Given the description of an element on the screen output the (x, y) to click on. 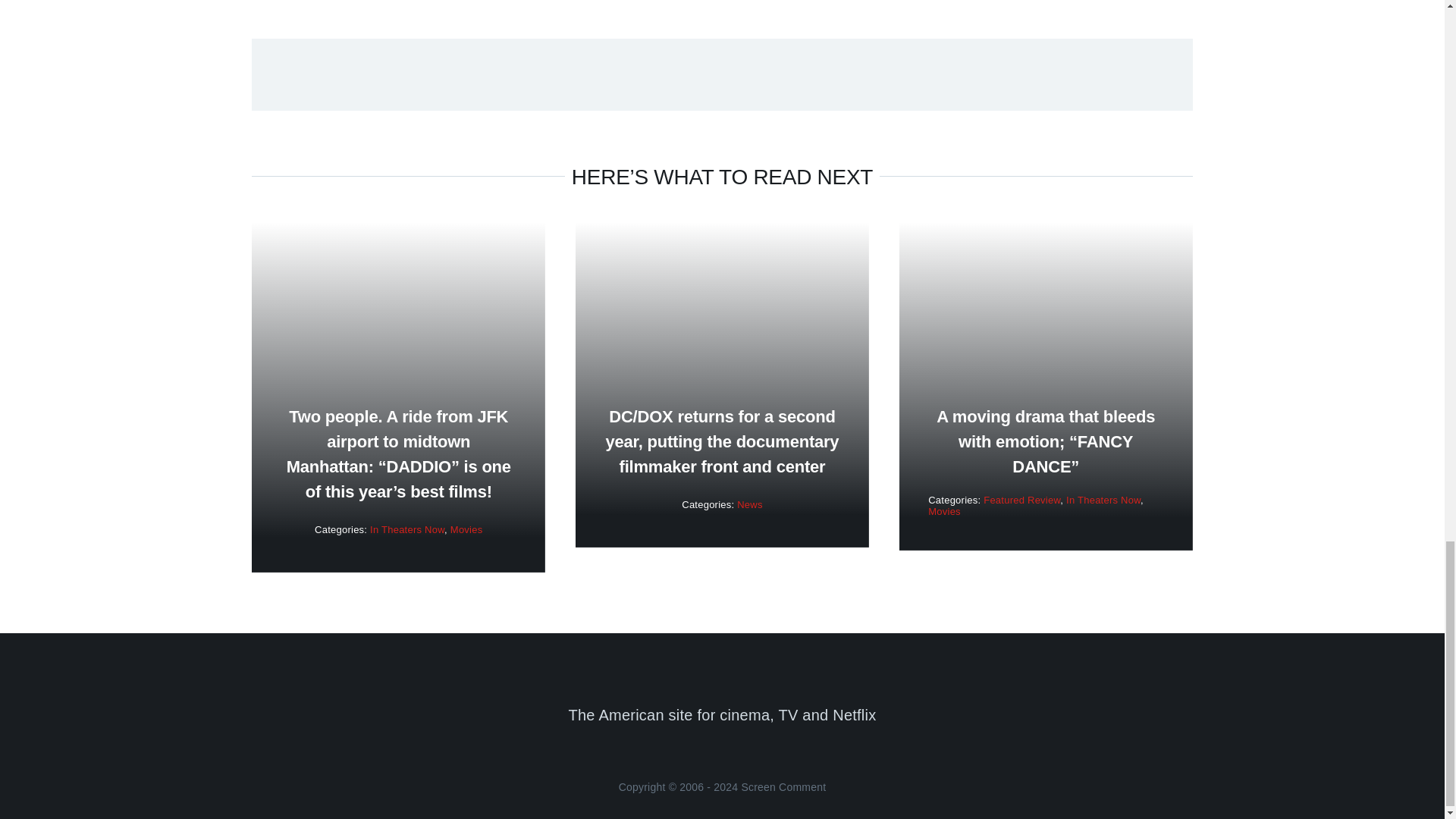
In Theaters Now (406, 529)
In Theaters Now (1102, 500)
Featured Review (1021, 500)
Movies (944, 511)
Movies (466, 529)
News (748, 504)
